Given the description of an element on the screen output the (x, y) to click on. 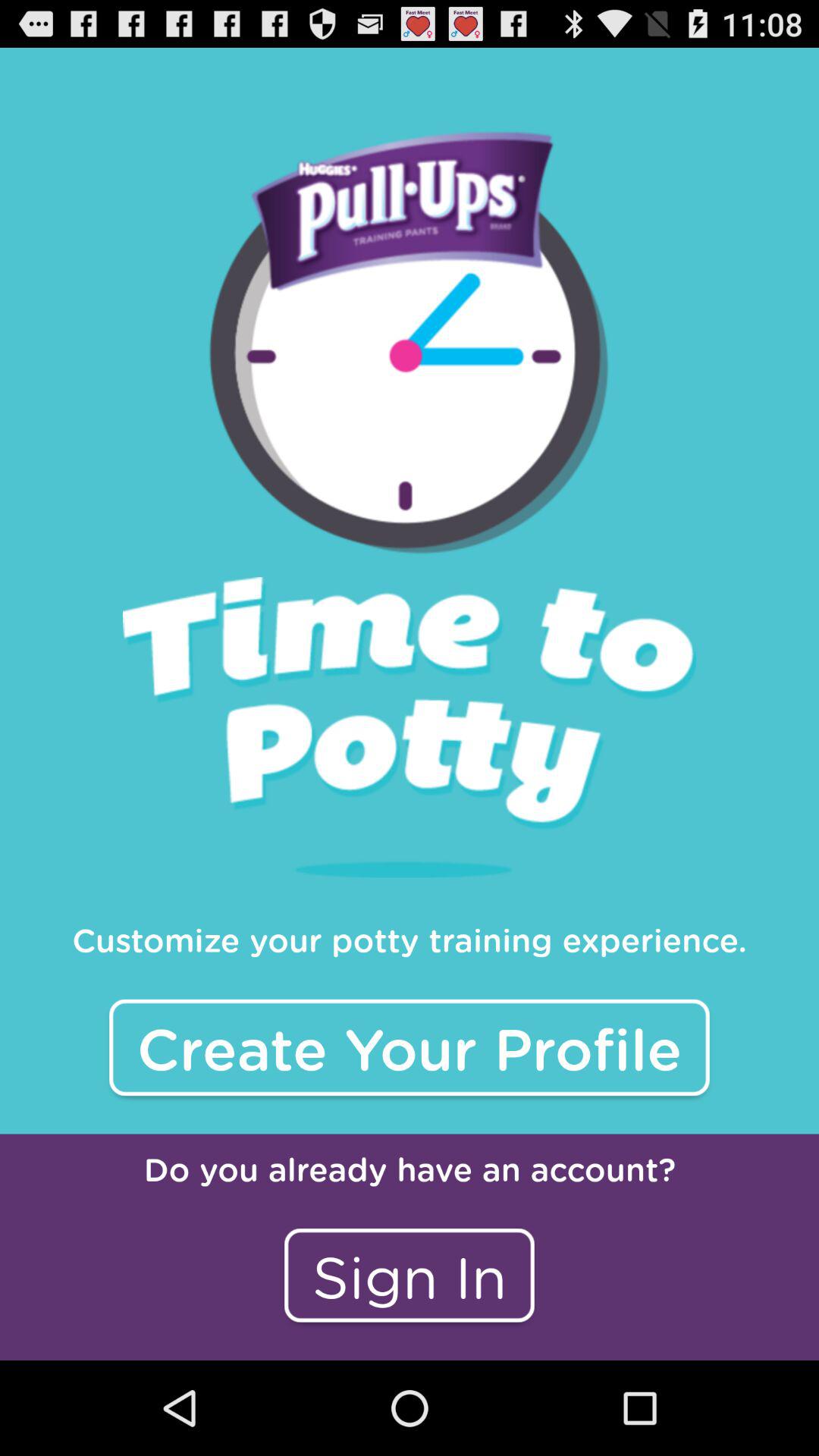
open icon below do you already app (409, 1275)
